Given the description of an element on the screen output the (x, y) to click on. 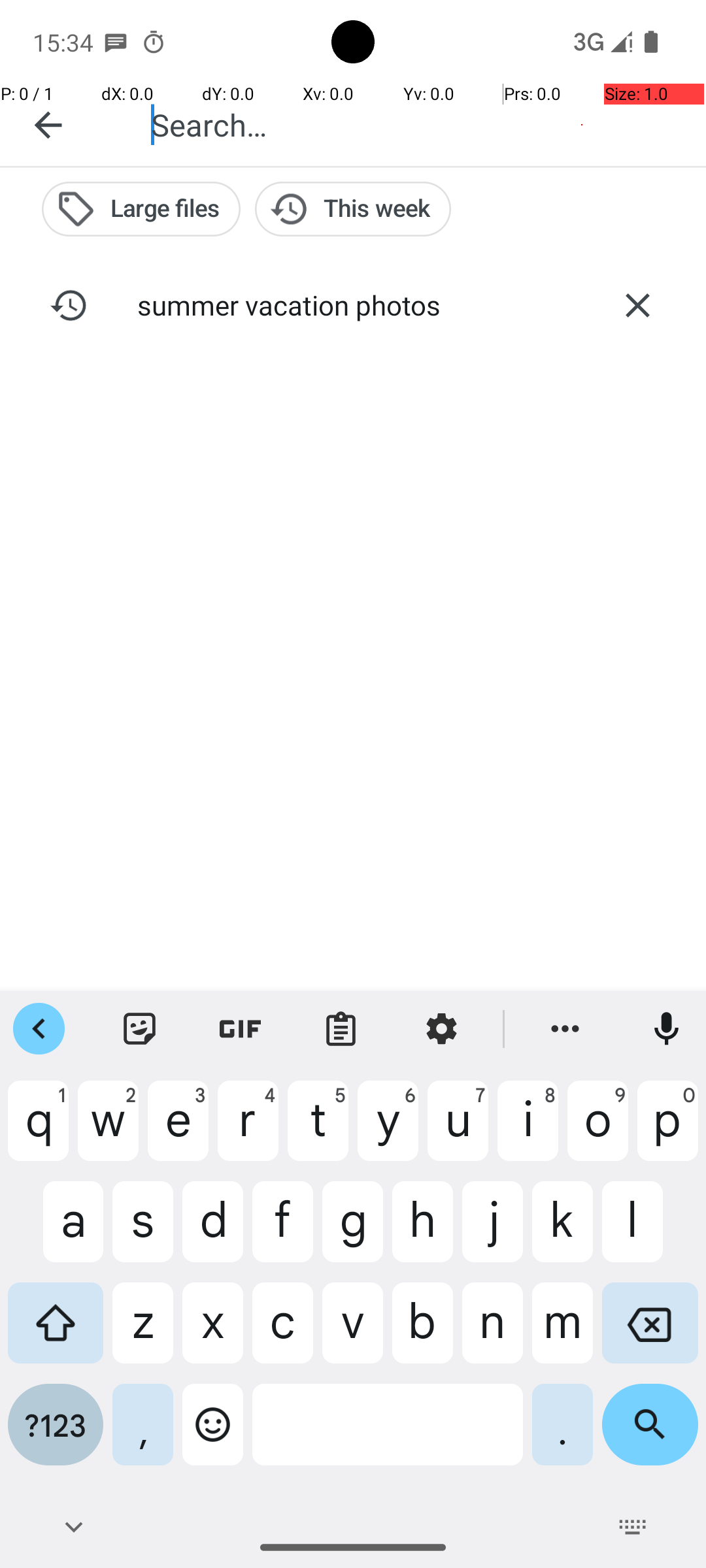
summer vacation photos Element type: android.widget.TextView (352, 304)
Delete search history summer vacation photos Element type: android.widget.ImageView (637, 304)
